Given the description of an element on the screen output the (x, y) to click on. 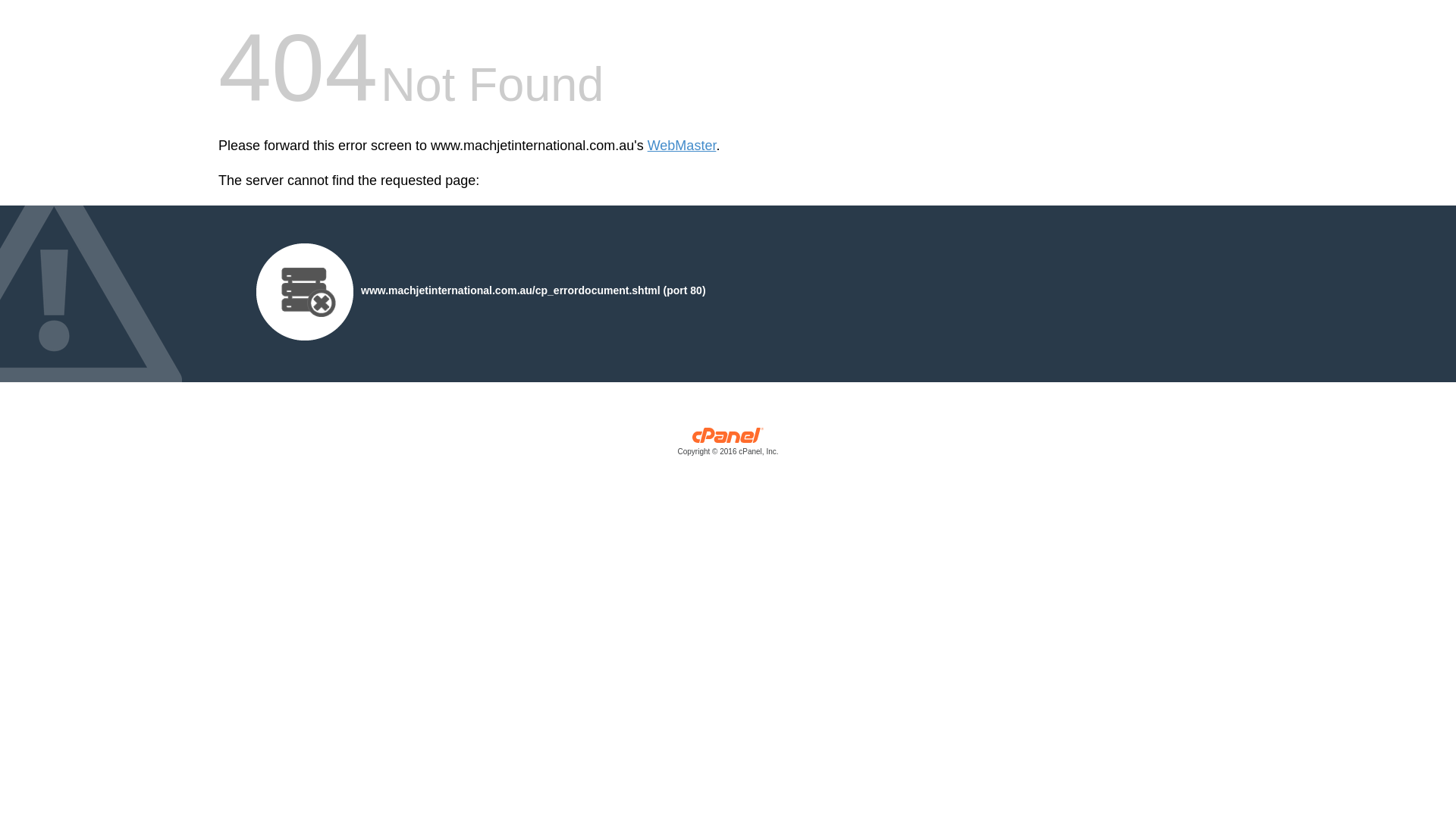
WebMaster Element type: text (681, 145)
